Given the description of an element on the screen output the (x, y) to click on. 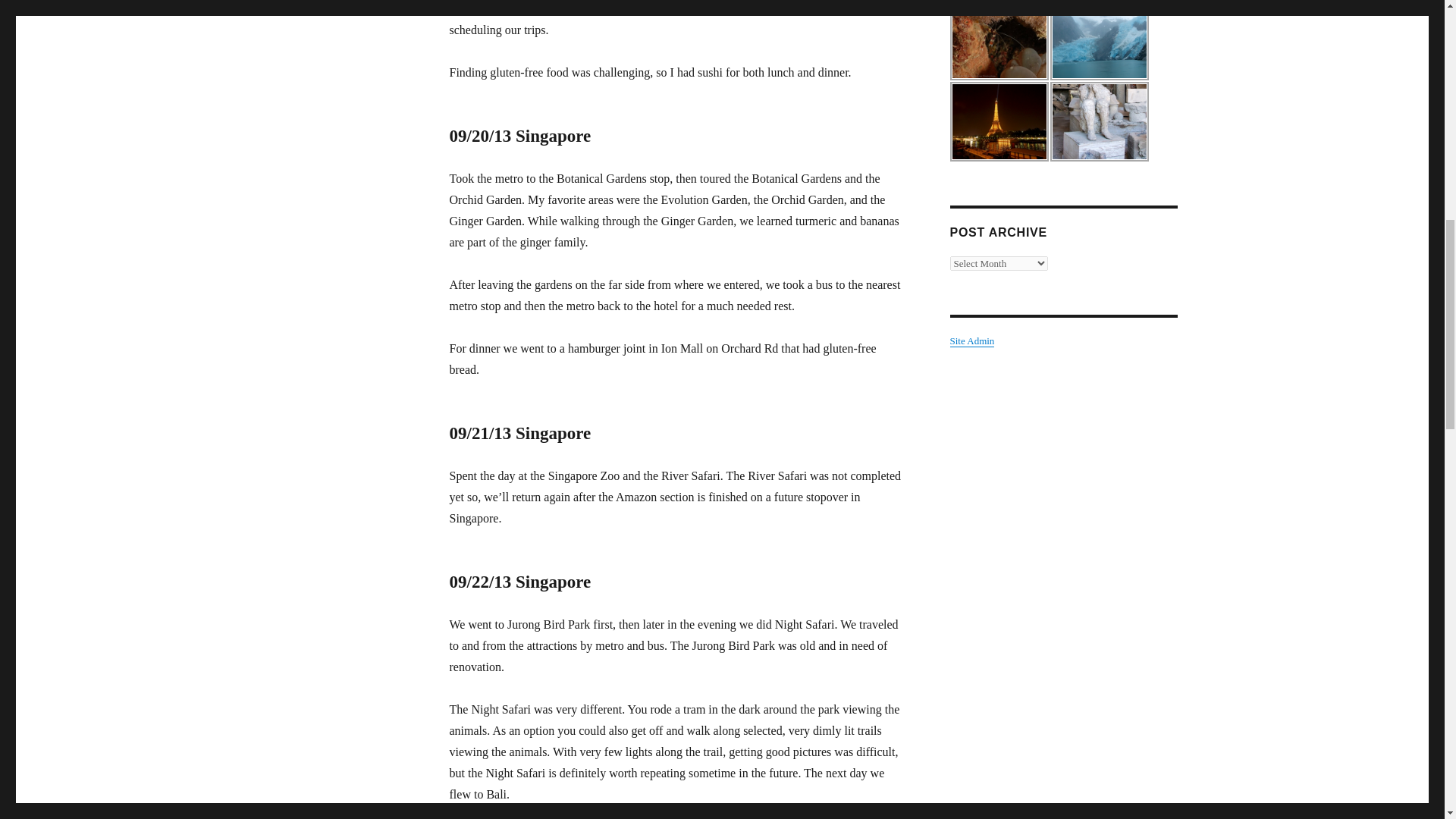
Site Admin (971, 340)
Northwestern-Glacier (1098, 40)
